Given the description of an element on the screen output the (x, y) to click on. 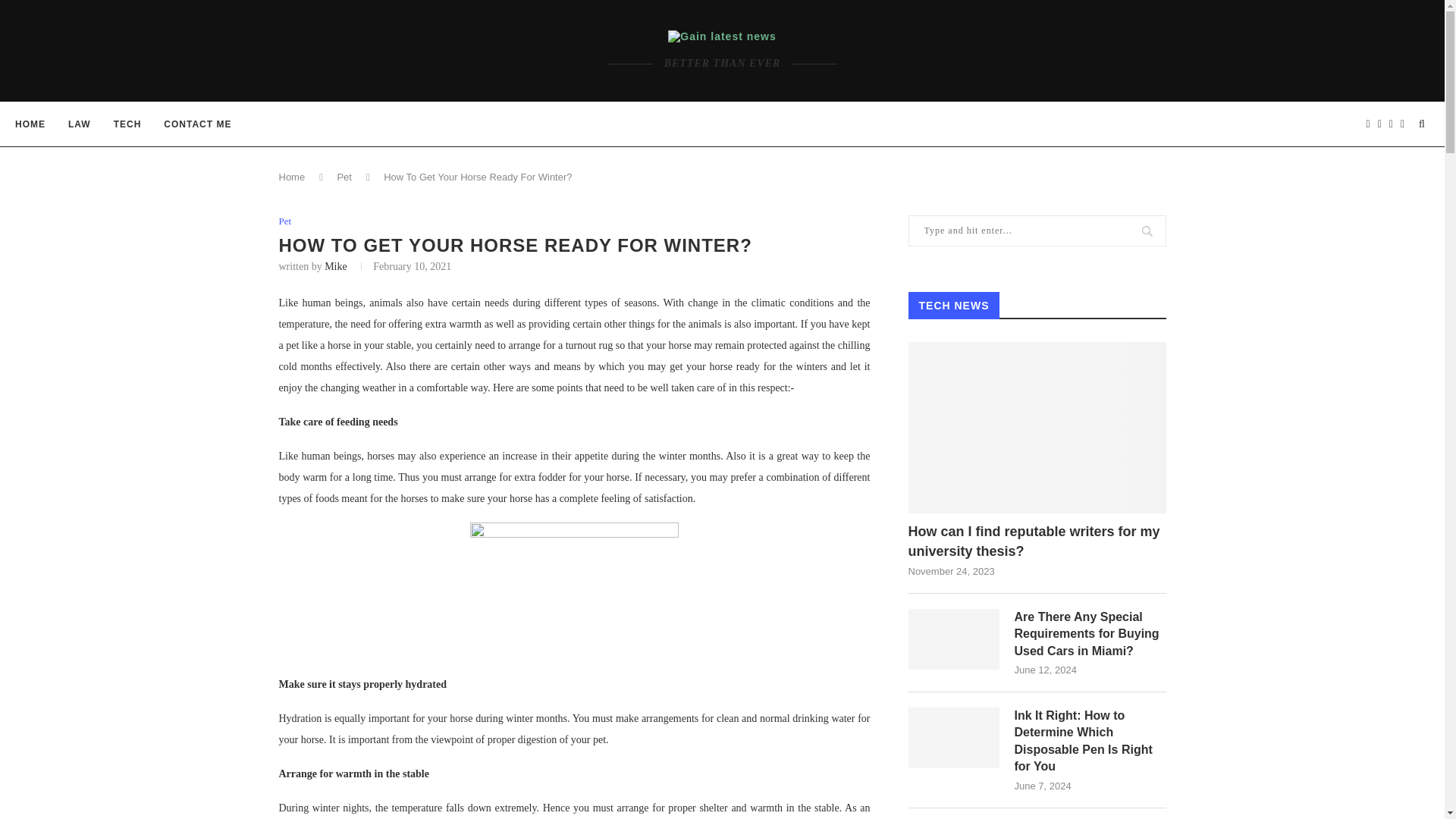
CONTACT ME (197, 124)
Home (292, 176)
HOME (29, 124)
Pet (285, 221)
Pet (344, 176)
TECH (127, 124)
LAW (79, 124)
Mike (335, 266)
